Given the description of an element on the screen output the (x, y) to click on. 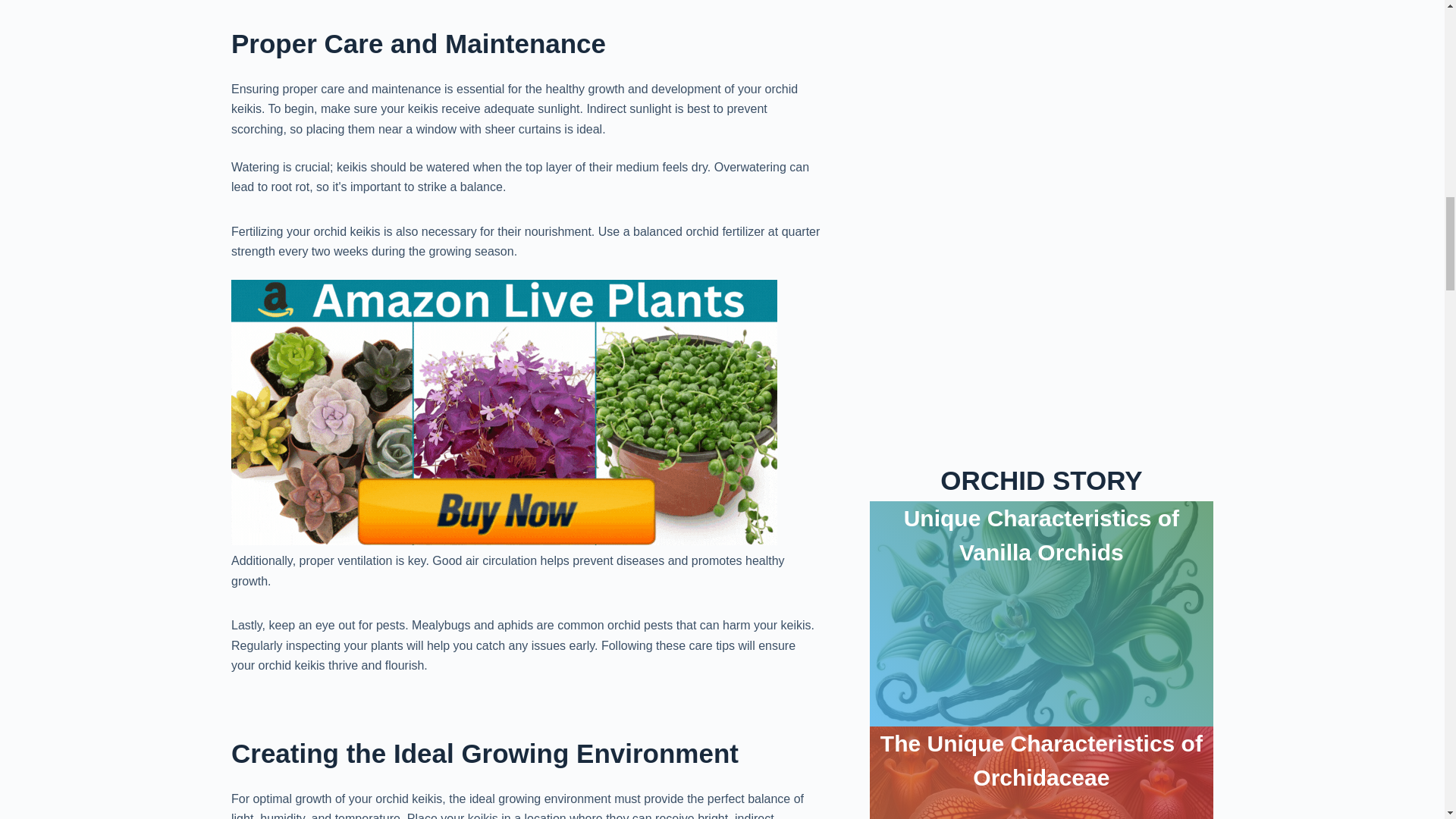
Consequences of Plants Not Being Pollinated (1040, 114)
